Given the description of an element on the screen output the (x, y) to click on. 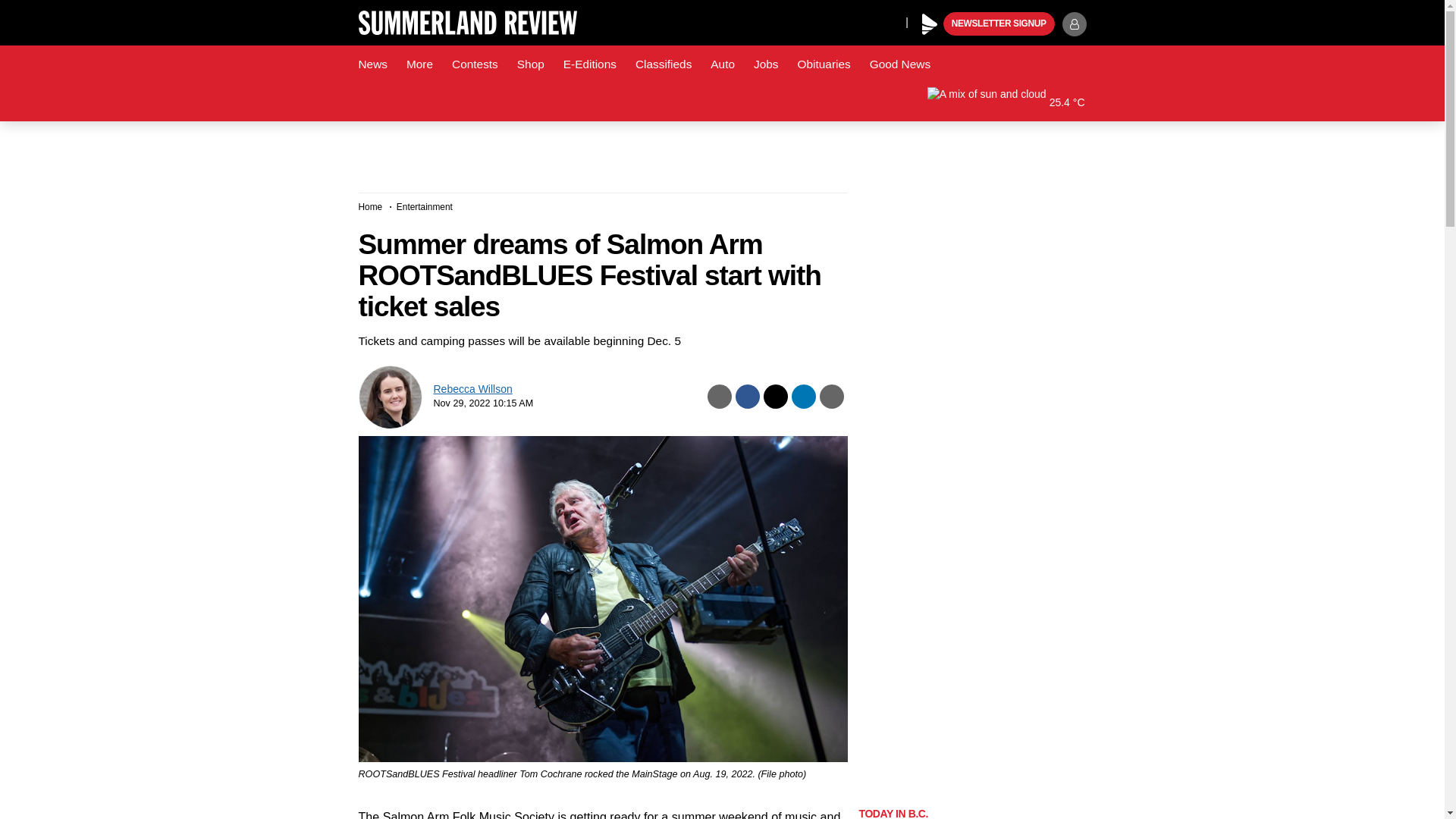
News (372, 64)
Play (929, 24)
NEWSLETTER SIGNUP (998, 24)
Black Press Media (929, 24)
X (889, 21)
